Given the description of an element on the screen output the (x, y) to click on. 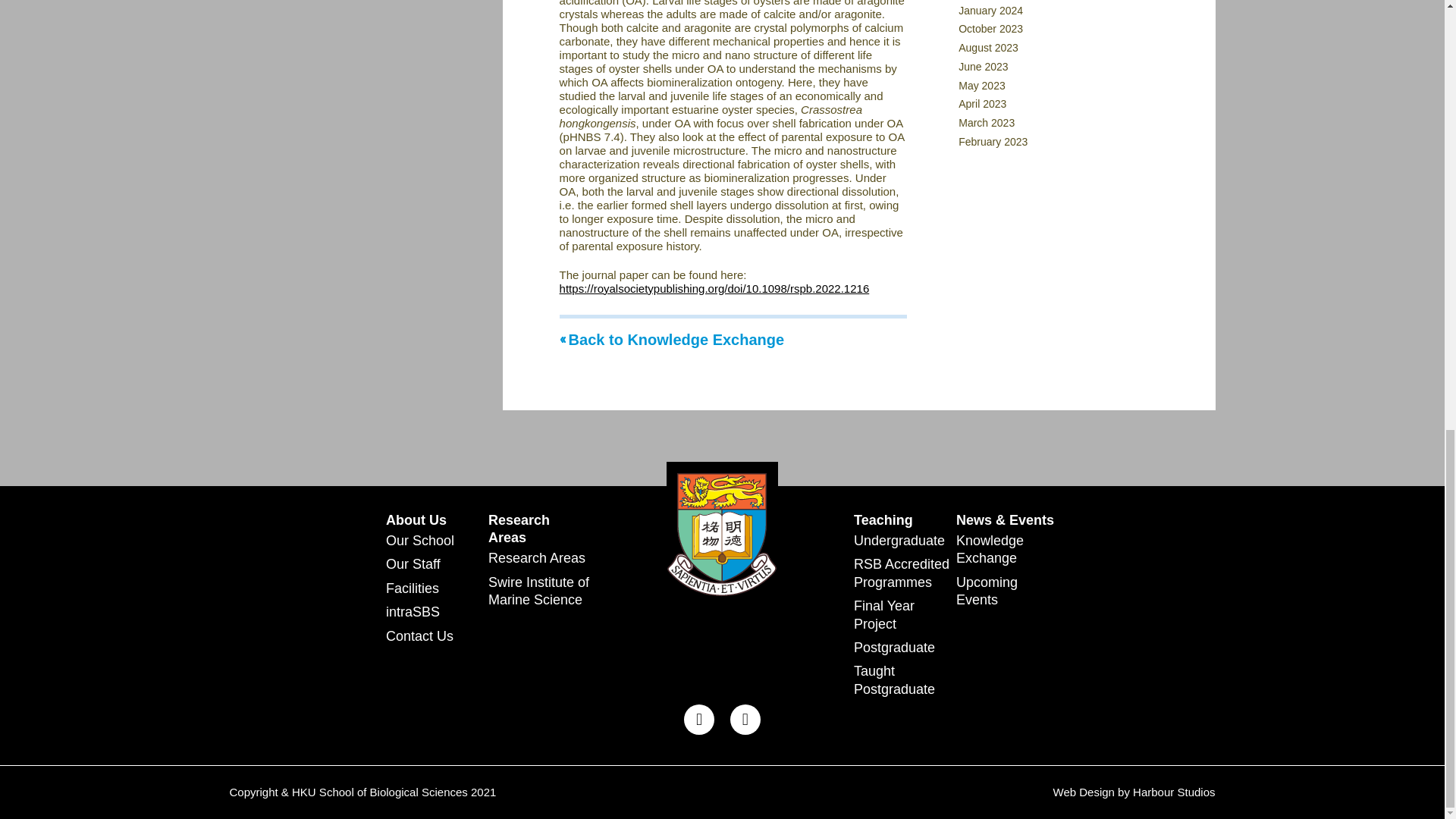
June 2023 (982, 66)
August 2023 (987, 47)
May 2023 (981, 85)
January 2024 (990, 10)
Back to Knowledge Exchange (671, 339)
October 2023 (990, 28)
